Given the description of an element on the screen output the (x, y) to click on. 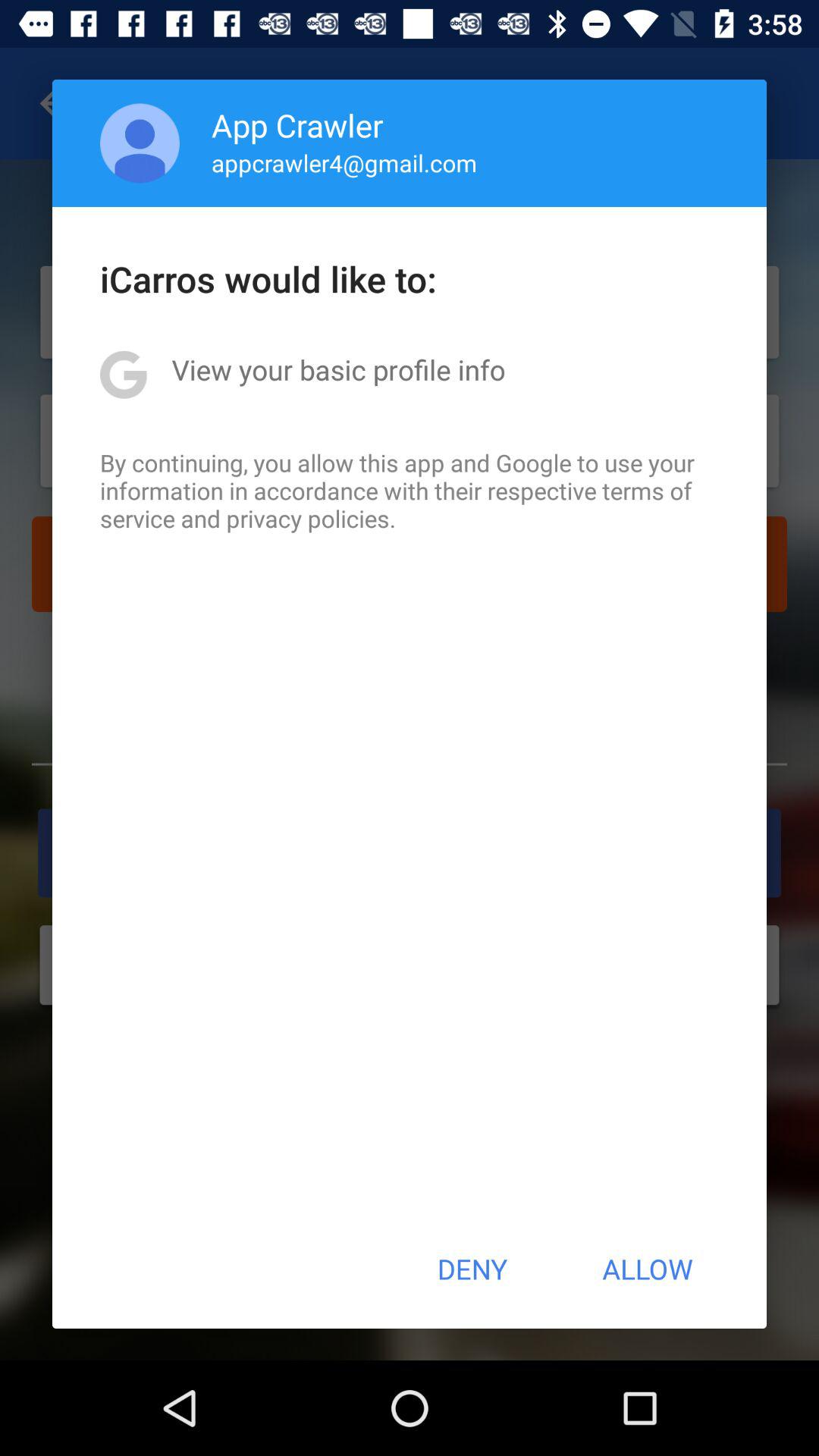
choose the app below the app crawler app (344, 162)
